Given the description of an element on the screen output the (x, y) to click on. 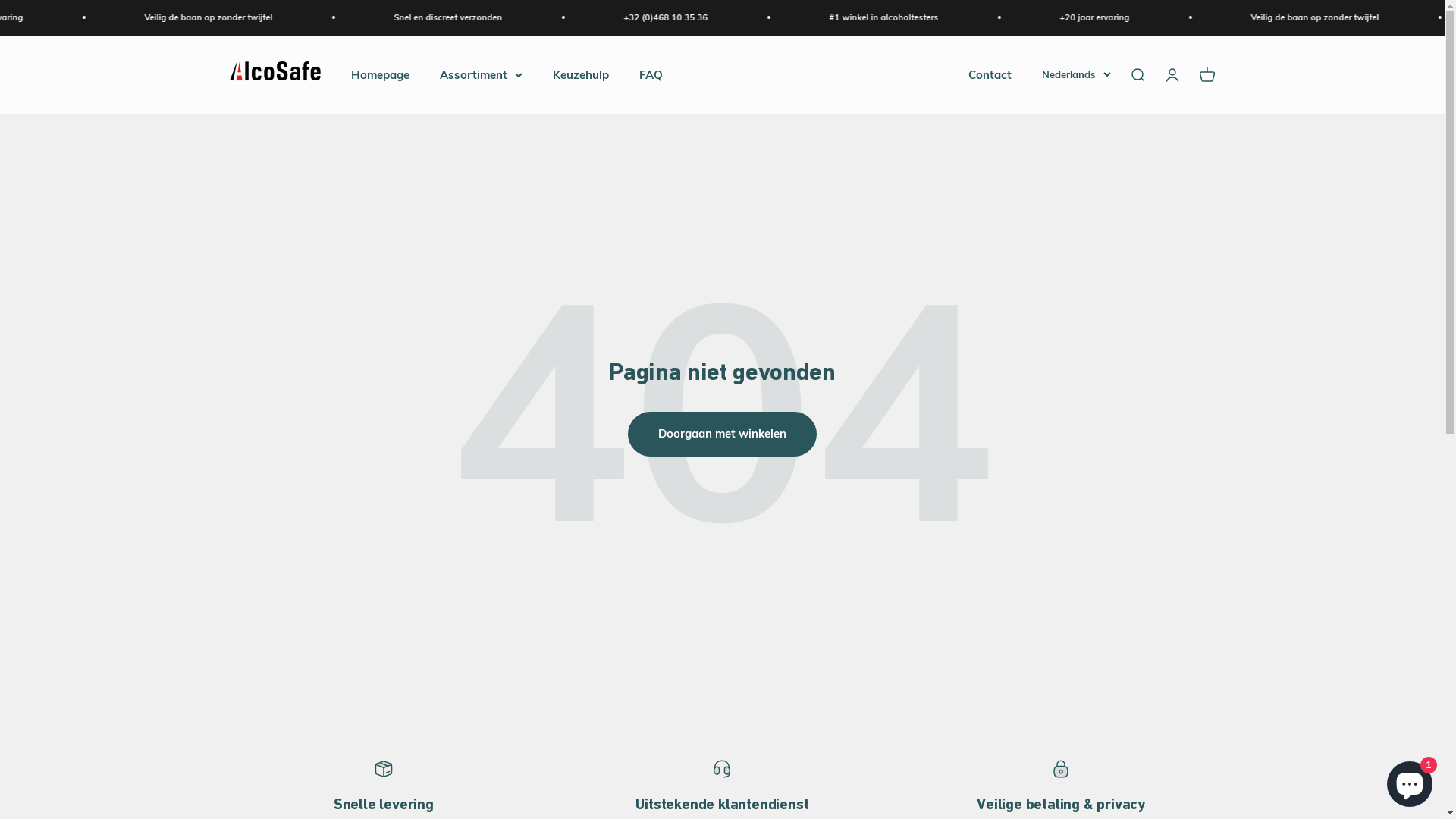
Zoeken openen Element type: text (1136, 73)
Doorgaan met winkelen Element type: text (721, 433)
Assortiment Element type: text (480, 74)
Nederlands Element type: text (1075, 74)
Onlinewinkel-chat van Shopify Element type: hover (1409, 780)
Keuzehulp Element type: text (580, 73)
Accountpagina openen Element type: text (1171, 73)
Winkelwagen openen
0 Element type: text (1206, 73)
AlcoSafe Element type: text (274, 74)
Homepage Element type: text (379, 73)
FAQ Element type: text (650, 73)
Contact Element type: text (988, 73)
